Given the description of an element on the screen output the (x, y) to click on. 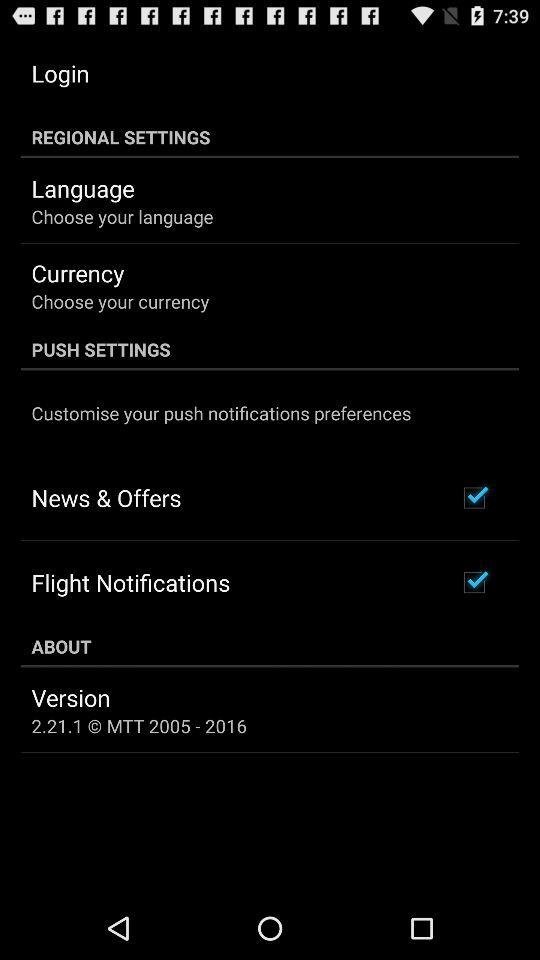
turn off icon below push settings app (221, 412)
